Given the description of an element on the screen output the (x, y) to click on. 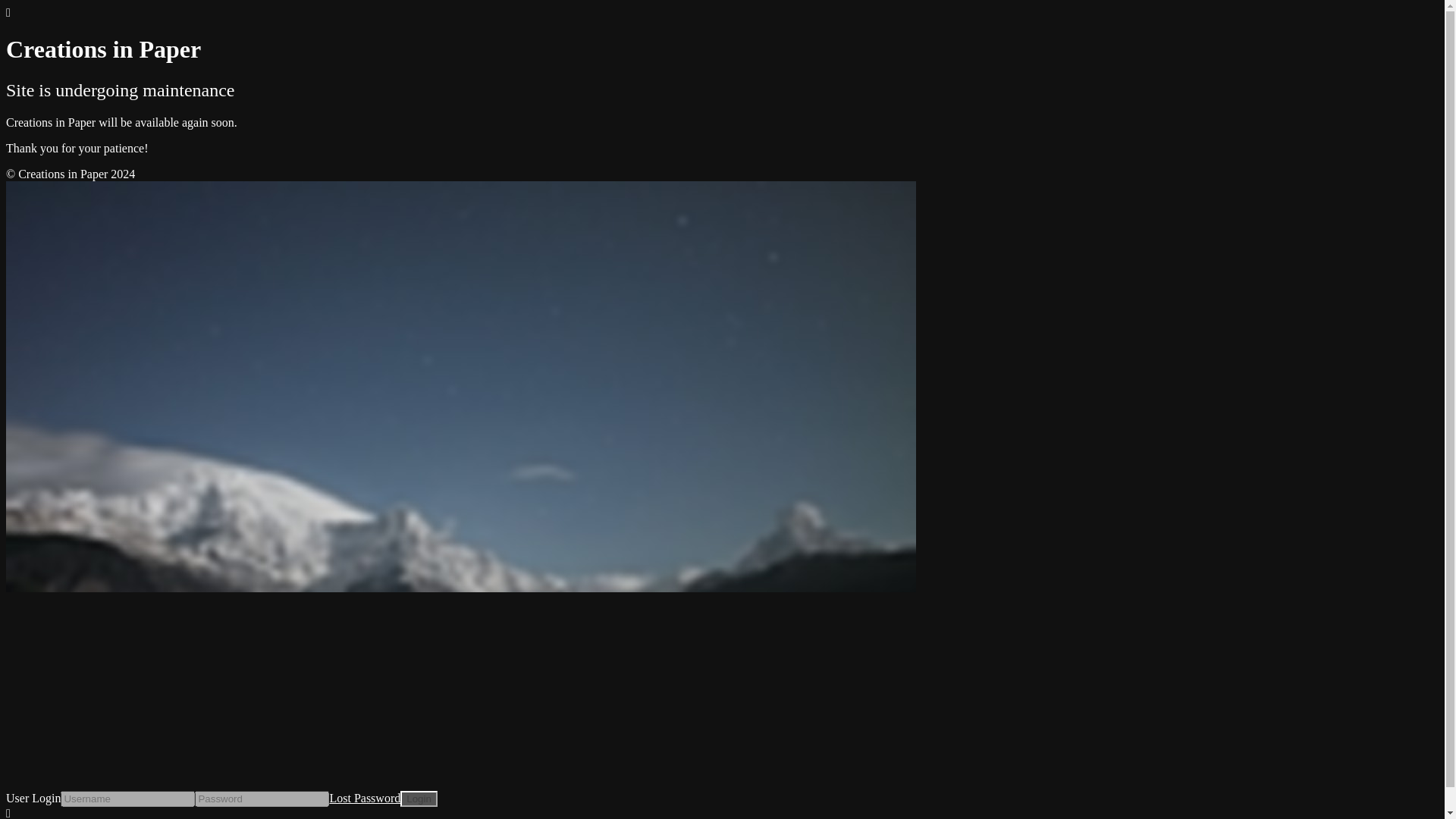
Login (419, 798)
Lost Password (364, 797)
Login (419, 798)
